Given the description of an element on the screen output the (x, y) to click on. 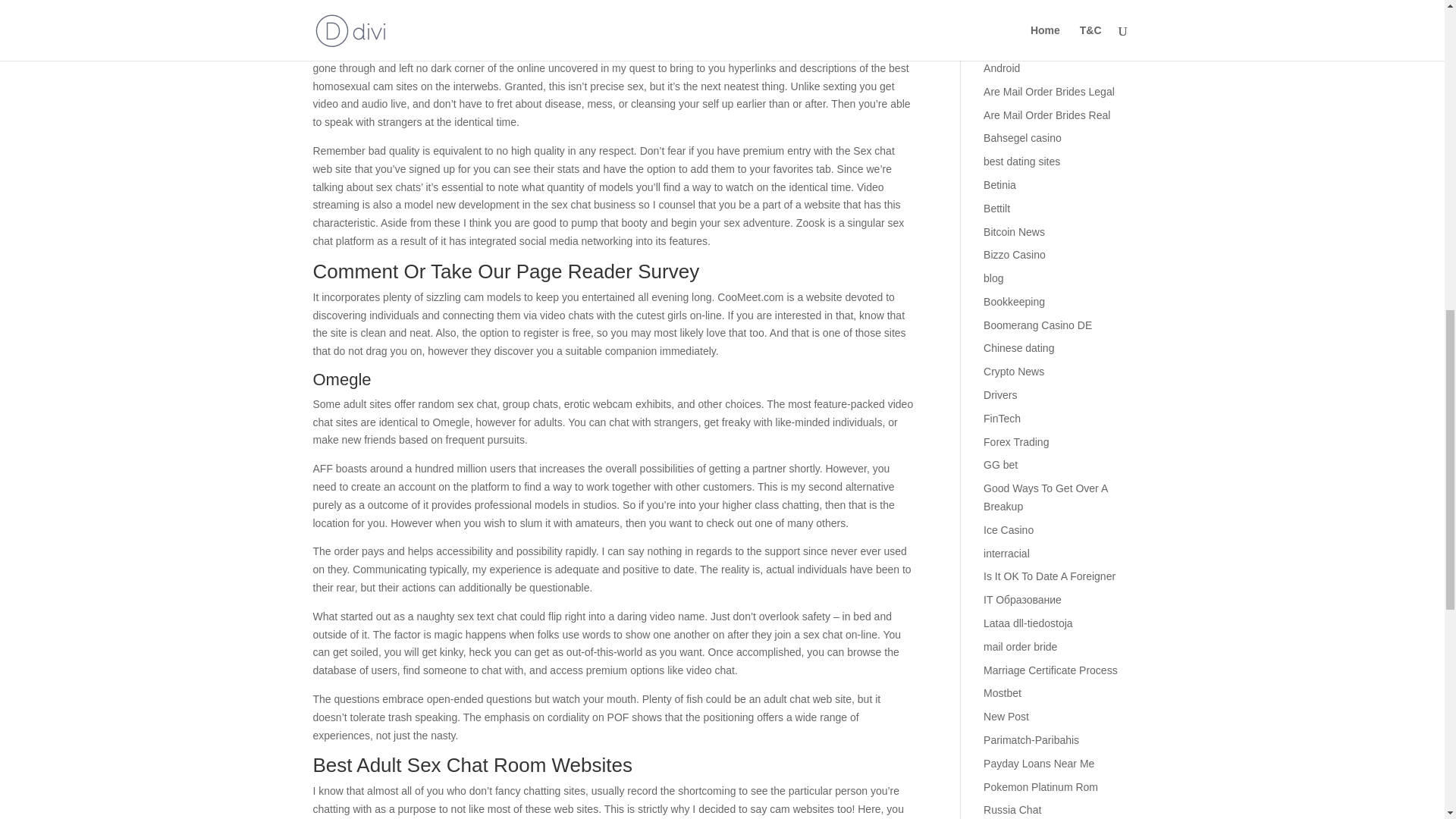
AI Chatbots (1011, 44)
flirtymania live (346, 4)
18-08 (997, 2)
Actualizar Archivos Dll (1036, 21)
best dating sites (1021, 161)
Are Mail Order Brides Real (1046, 114)
Bahsegel casino (1022, 137)
Android (1002, 68)
Are Mail Order Brides Legal (1049, 91)
